Given the description of an element on the screen output the (x, y) to click on. 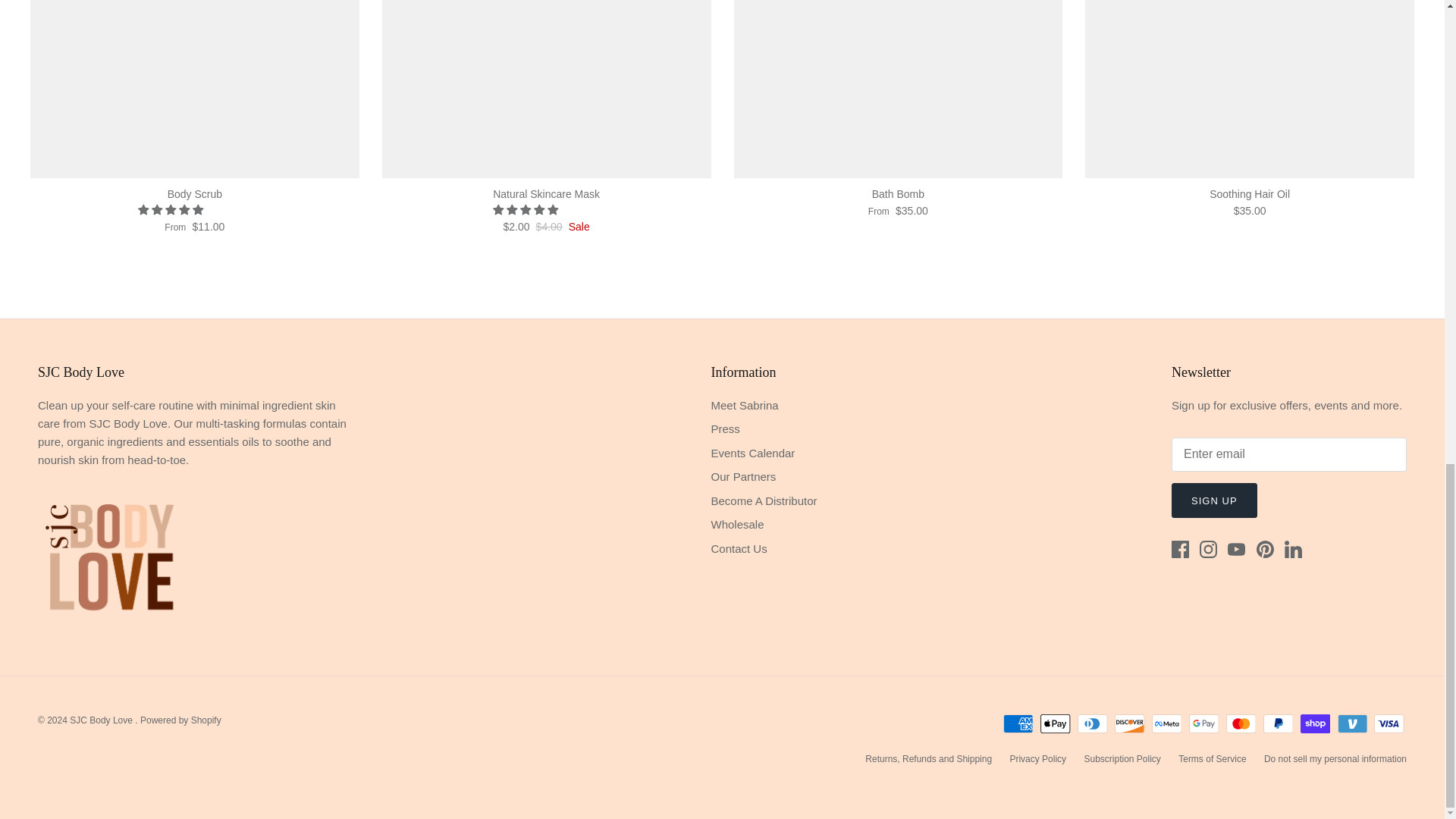
Facebook (1180, 548)
Instagram (1208, 548)
Youtube (1235, 548)
American Express (1018, 723)
Pinterest (1265, 548)
Apple Pay (1055, 723)
